Given the description of an element on the screen output the (x, y) to click on. 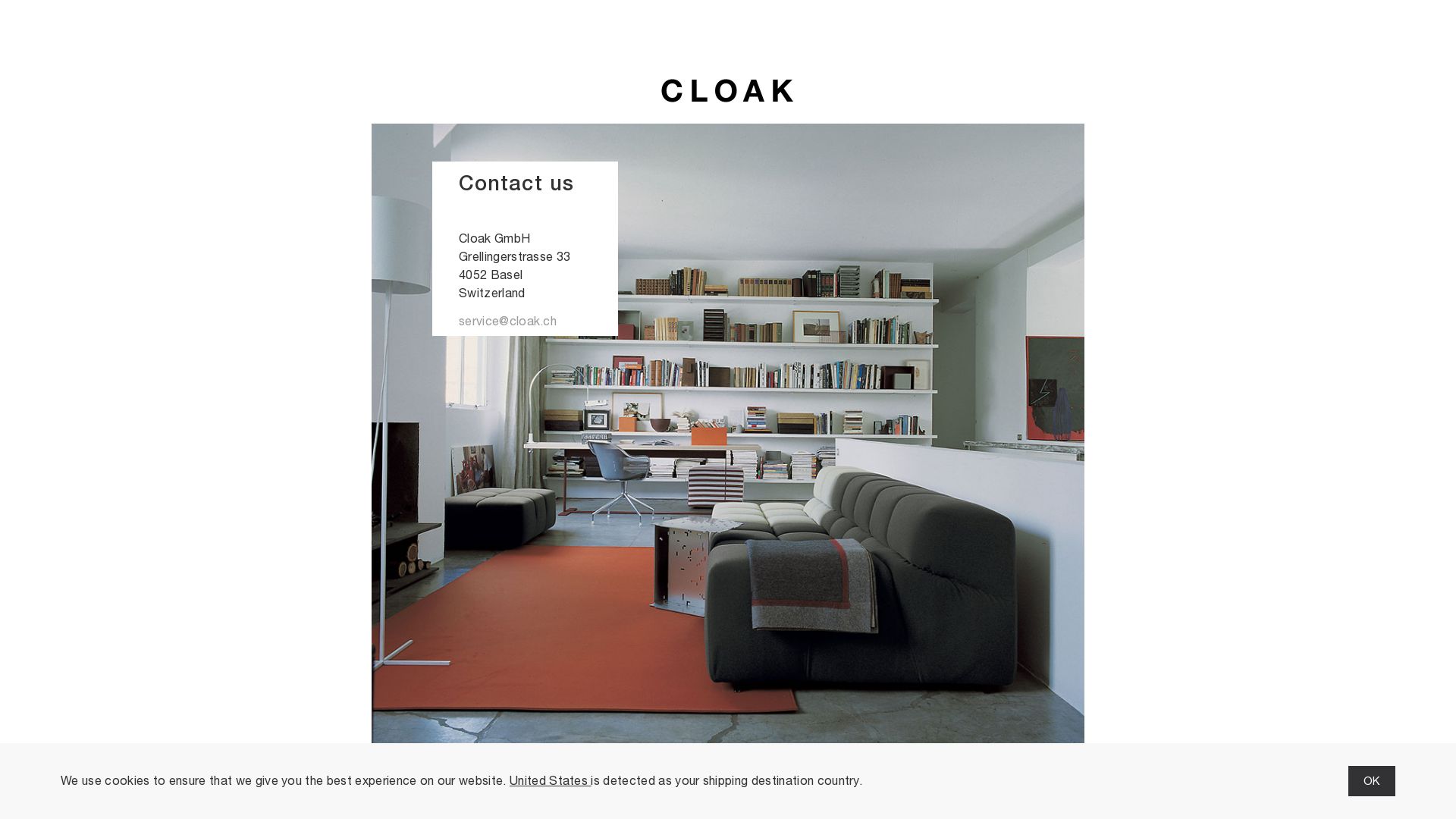
service@cloak.ch Element type: text (534, 321)
OK Element type: text (1371, 780)
United States Element type: text (549, 781)
